Given the description of an element on the screen output the (x, y) to click on. 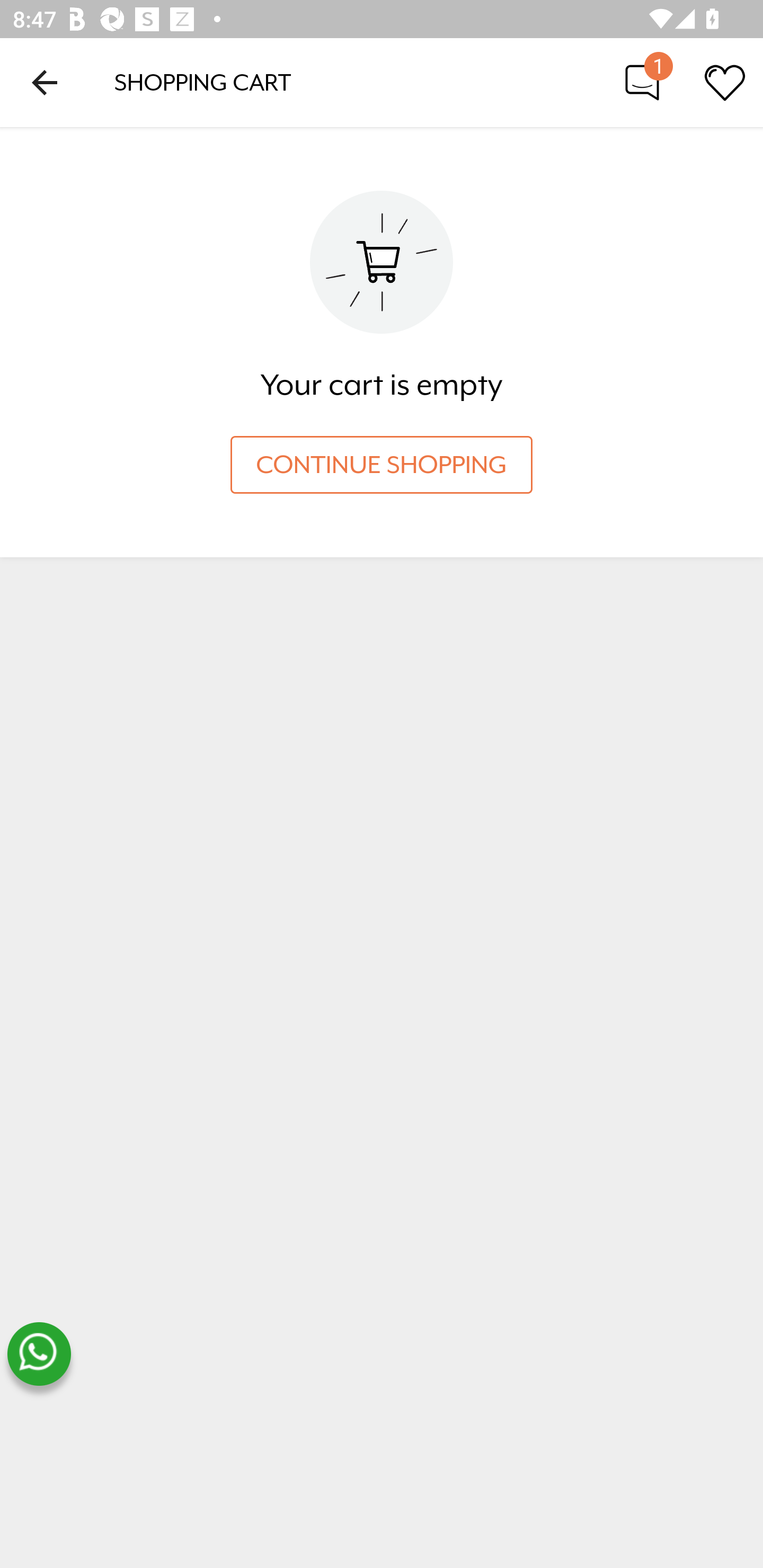
Navigate up (44, 82)
Chat (641, 81)
Wishlist (724, 81)
CONTINUE SHOPPING (381, 464)
whatsapp (38, 1353)
